Given the description of an element on the screen output the (x, y) to click on. 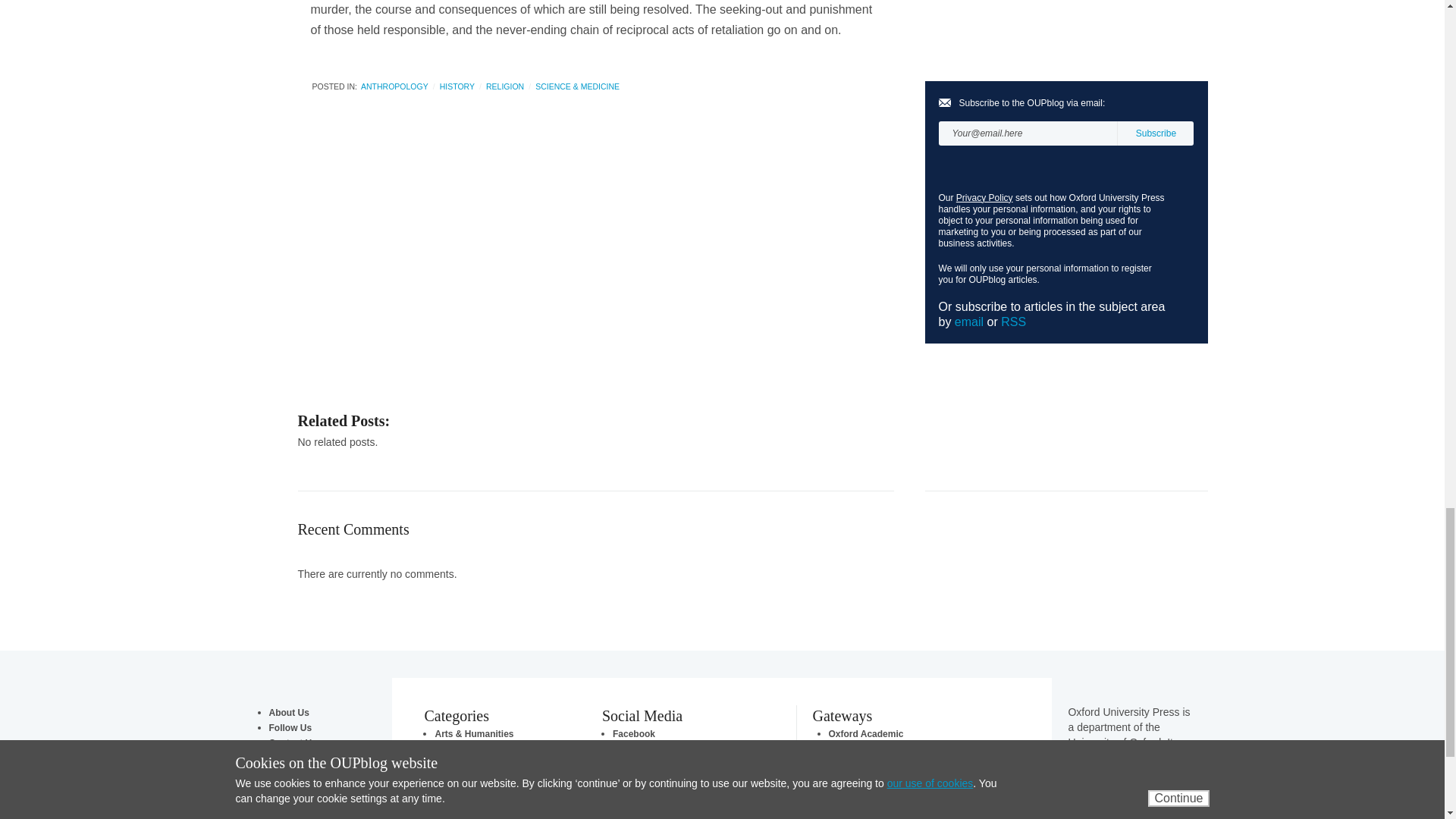
Subscribe (1154, 133)
